Given the description of an element on the screen output the (x, y) to click on. 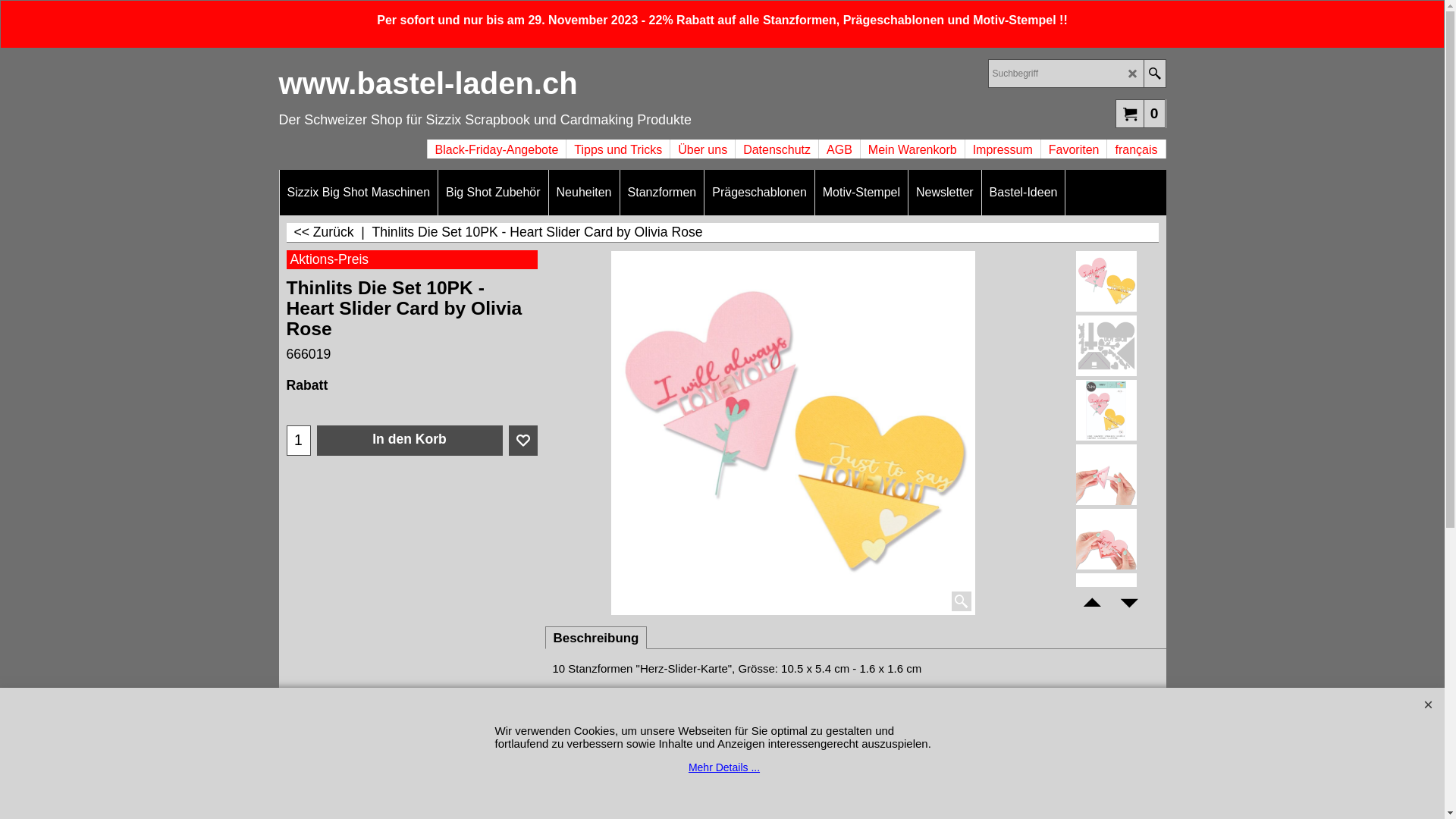
Thinlits Die Set 10PK - Heart Slider Card by Olivia Rose Element type: hover (1106, 345)
1 Element type: text (297, 440)
Stanzformen Element type: text (662, 192)
Newsletter Element type: text (944, 192)
Thinlits Die Set 10PK - Heart Slider Card by Olivia Rose Element type: text (411, 324)
Bastel-Ideen Element type: text (1023, 192)
Black-Friday-Angebote Element type: text (496, 142)
AGB Element type: text (839, 142)
Motiv-Stempel Element type: text (861, 192)
LD_CANCEL Element type: hover (1132, 73)
0 Element type: text (1140, 112)
Thinlits Die Set 10PK - Heart Slider Card by Olivia Rose Element type: hover (1105, 474)
Thinlits Die Set 10PK - Heart Slider Card by Olivia Rose Element type: hover (1106, 603)
Thinlits Die Set 10PK - Heart Slider Card by Olivia Rose Element type: hover (1106, 474)
Suche Element type: hover (1154, 73)
Thinlits Die Set 10PK - Heart Slider Card by Olivia Rose Element type: hover (793, 433)
Impressum Element type: text (1002, 142)
Neuheiten Element type: text (584, 192)
Thinlits Die Set 10PK - Heart Slider Card by Olivia Rose Element type: hover (1106, 409)
Favoriten Element type: hover (522, 440)
Thinlits Die Set 10PK - Heart Slider Card by Olivia Rose Element type: hover (1106, 538)
Thinlits Die Set 10PK - Heart Slider Card by Olivia Rose Element type: hover (1105, 603)
Tipps und Tricks Element type: text (617, 142)
Beschreibung Element type: text (596, 637)
Thinlits Die Set 10PK - Heart Slider Card by Olivia Rose Element type: hover (1105, 345)
Datenschutz Element type: text (776, 142)
Favoriten Element type: text (1074, 142)
Mehr Details ... Element type: text (724, 767)
Thinlits Die Set 10PK - Heart Slider Card by Olivia Rose Element type: hover (1105, 409)
Mein Warenkorb Element type: text (912, 142)
Thinlits Die Set 10PK - Heart Slider Card by Olivia Rose Element type: hover (1105, 538)
In den Korb Element type: text (408, 440)
Sizzix Big Shot Maschinen Element type: text (358, 192)
